Given the description of an element on the screen output the (x, y) to click on. 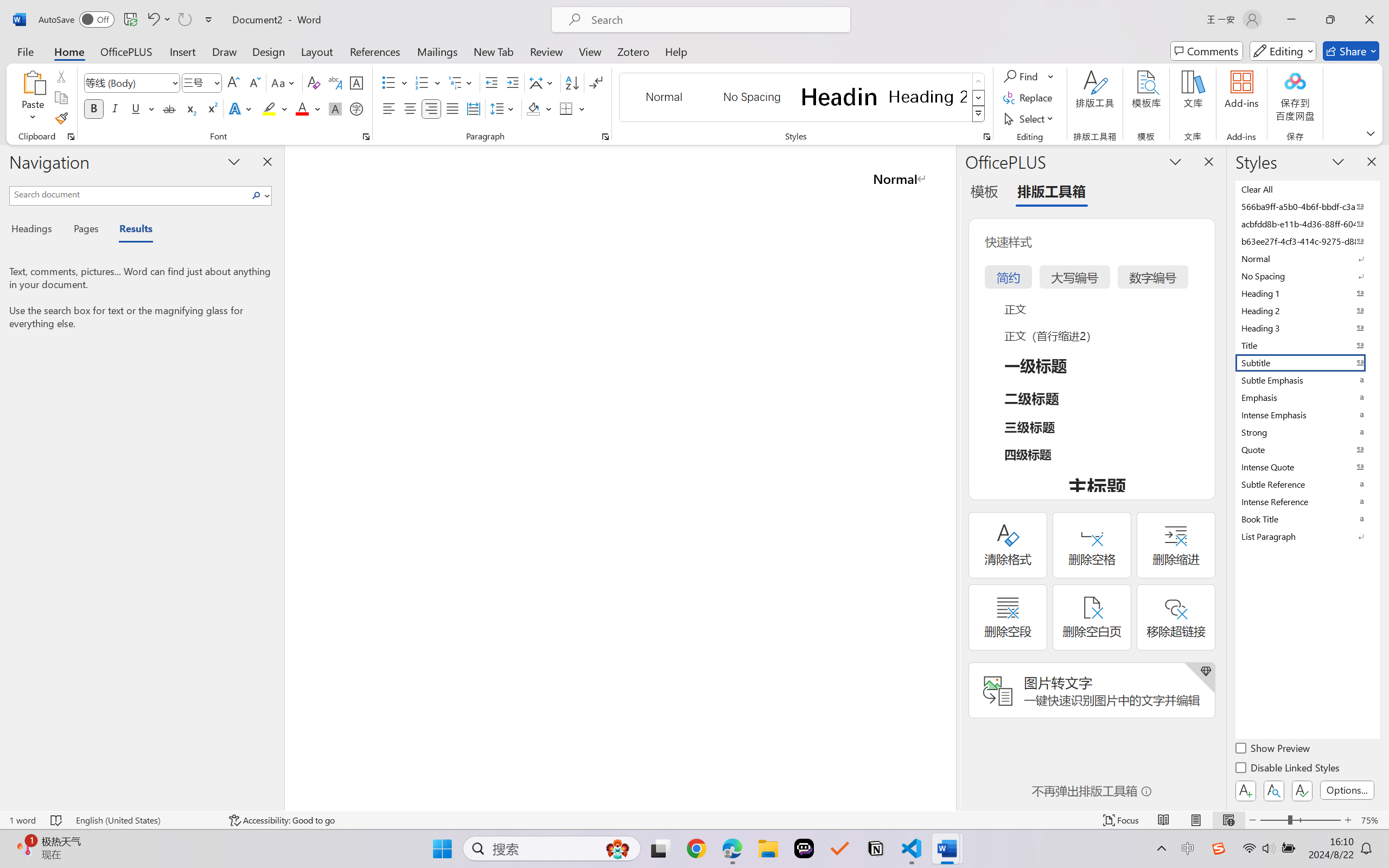
Zoom Out (1273, 819)
Show Preview (1273, 749)
Font Color Red (302, 108)
Results (130, 229)
Normal (1306, 258)
Italic (115, 108)
Borders (571, 108)
Replace... (1029, 97)
Text Effects and Typography (241, 108)
